Given the description of an element on the screen output the (x, y) to click on. 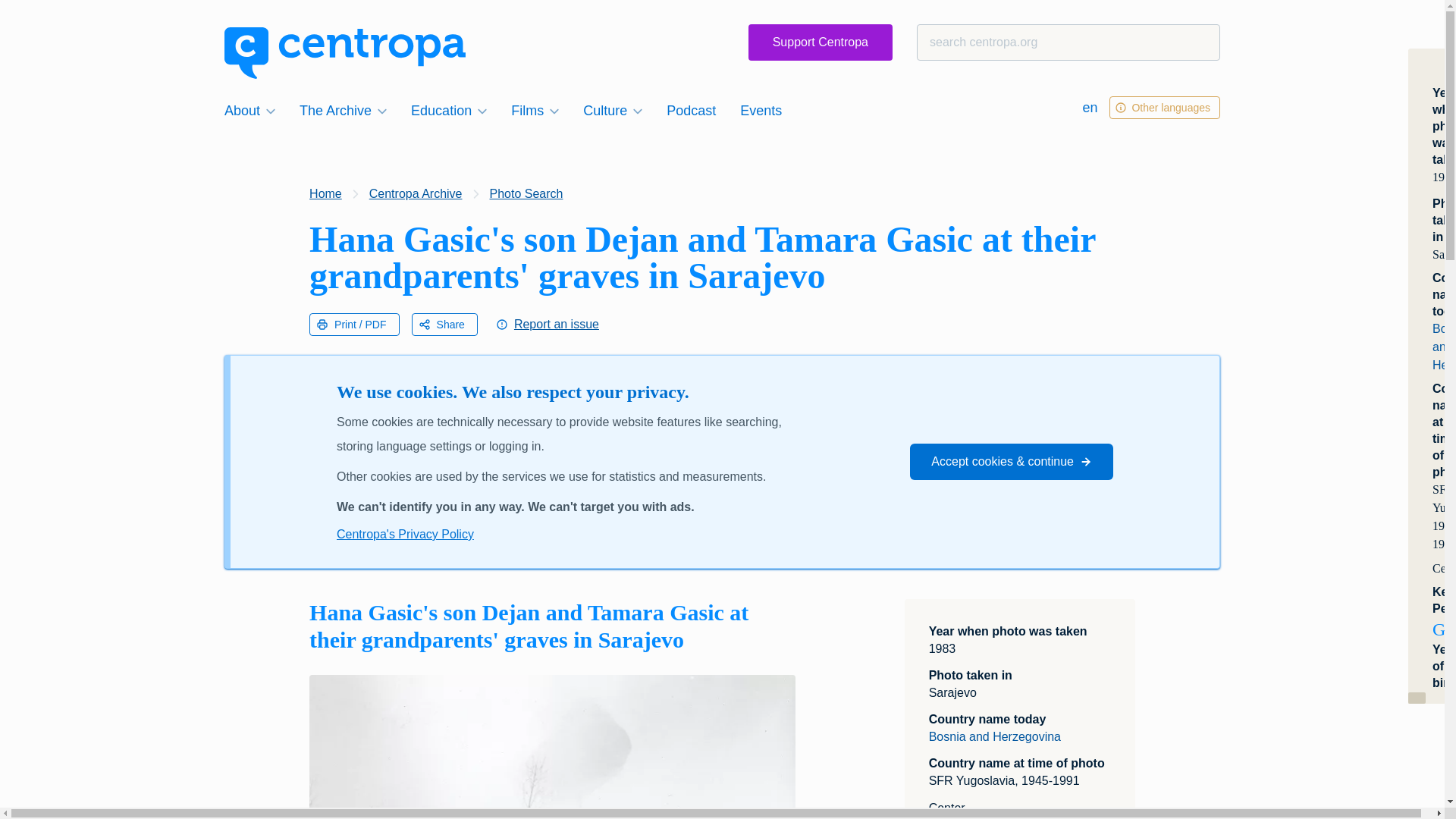
Support Centropa (820, 42)
Search (40, 18)
Films (534, 110)
The Archive (343, 110)
Culture (611, 110)
Events (760, 110)
Support Centropa (820, 42)
About (249, 110)
Education (448, 110)
